Given the description of an element on the screen output the (x, y) to click on. 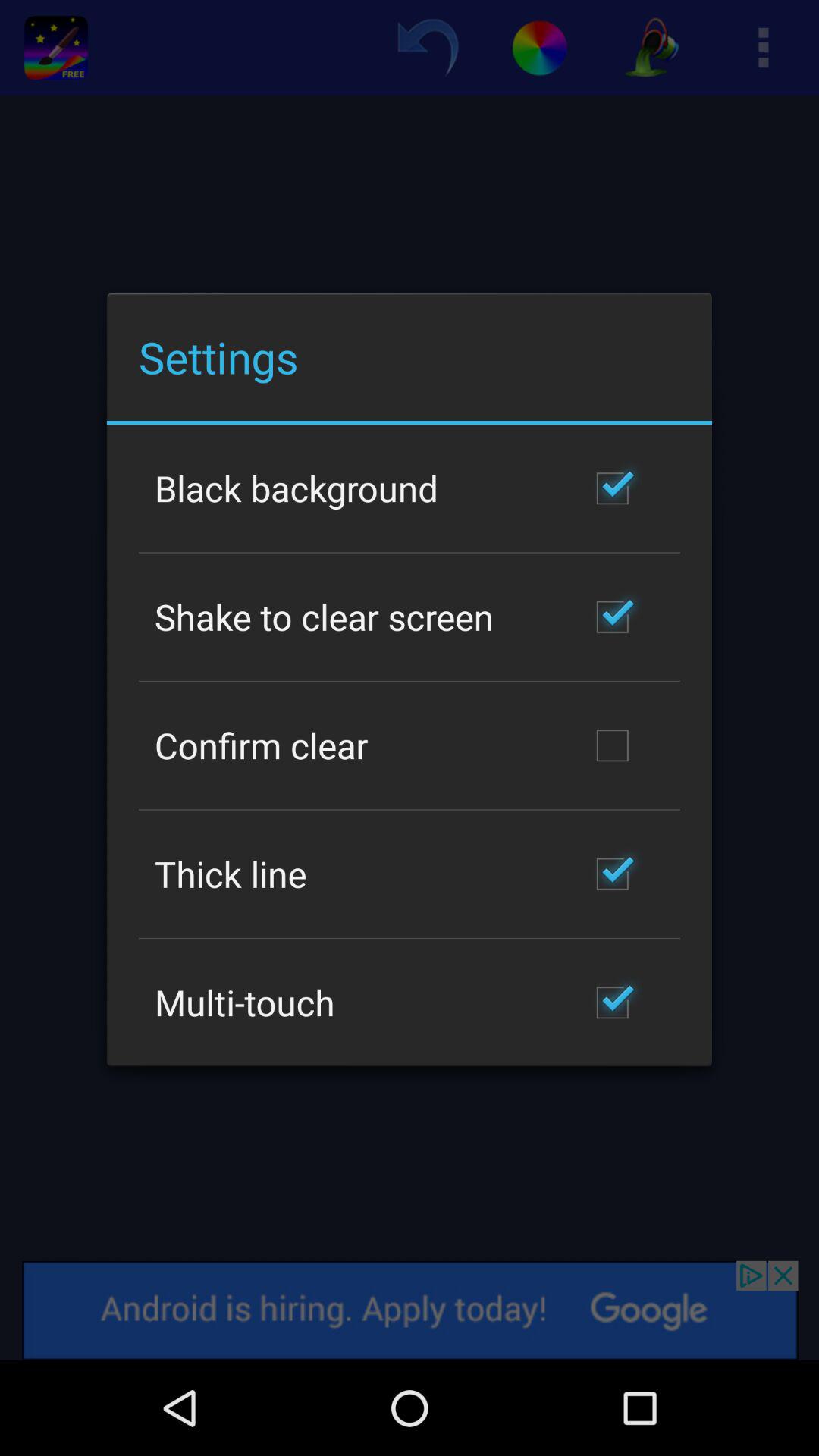
swipe until multi-touch app (244, 1002)
